Given the description of an element on the screen output the (x, y) to click on. 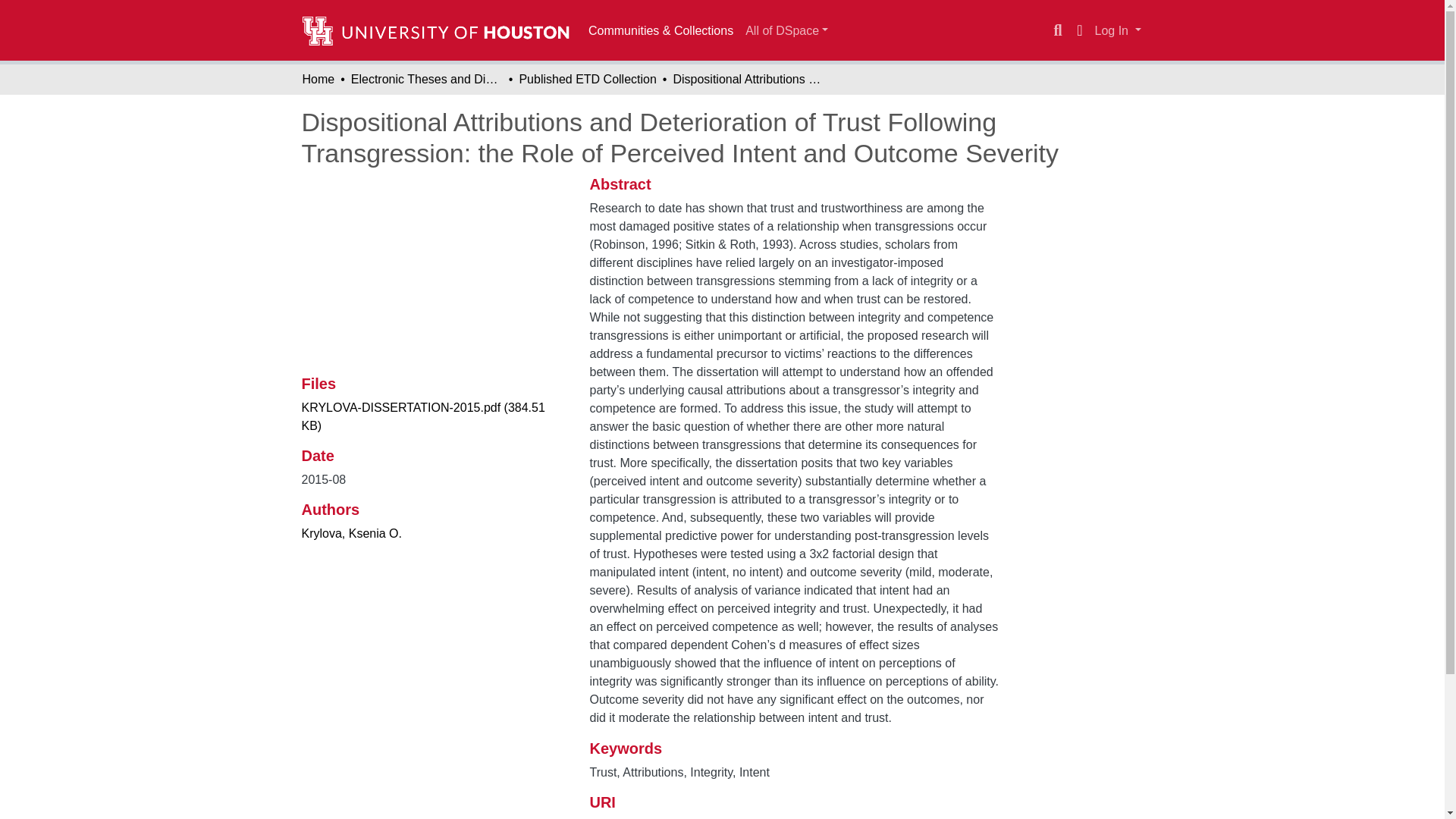
Published ETD Collection (587, 79)
Language switch (1079, 30)
Home (317, 79)
Search (1057, 30)
Log In (1117, 30)
All of DSpace (786, 30)
Krylova, Ksenia O. (352, 533)
